Given the description of an element on the screen output the (x, y) to click on. 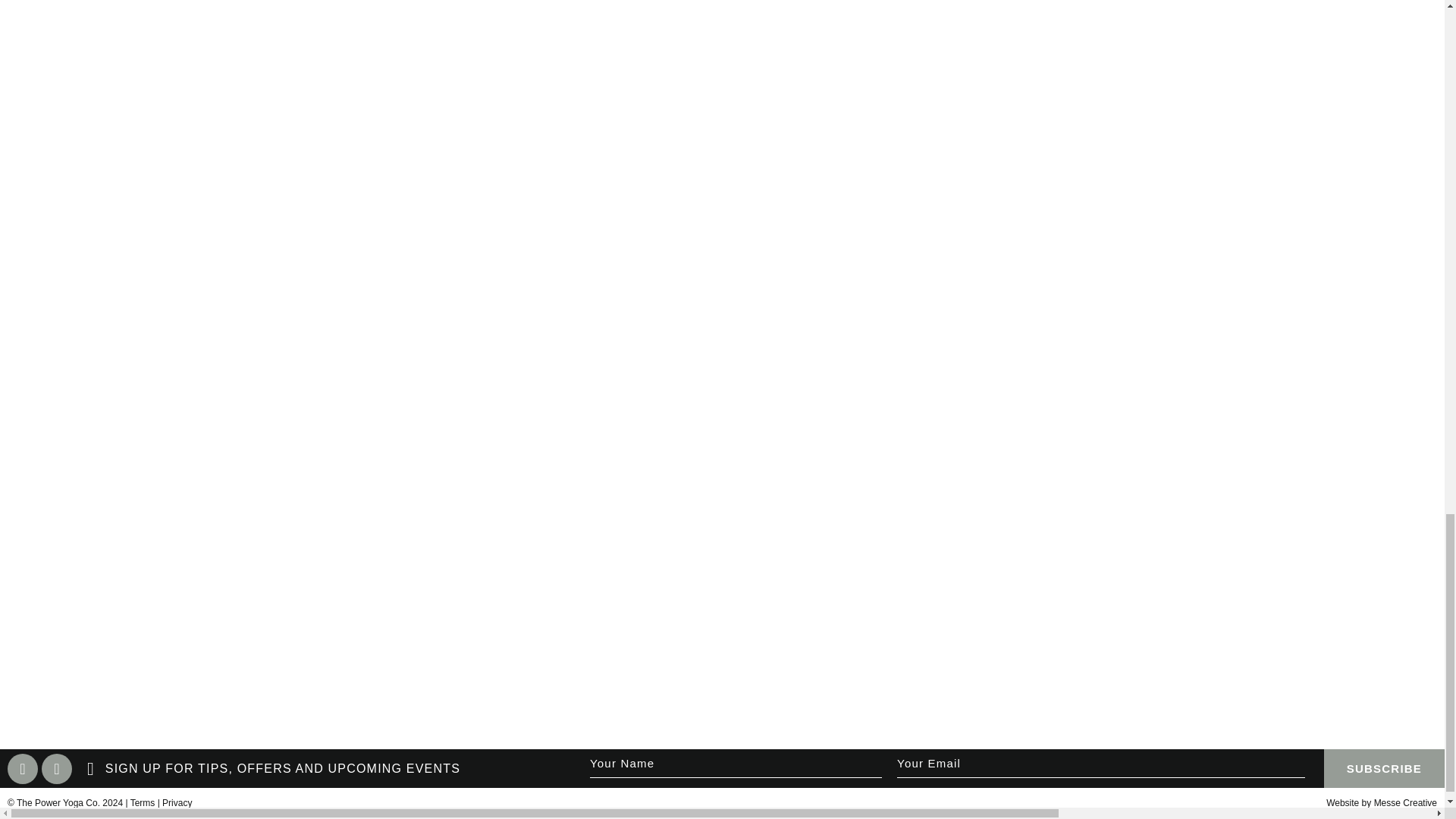
Terms (143, 802)
Messe Creative (1405, 802)
subscribe (1383, 768)
subscribe (1383, 768)
Privacy (176, 802)
